Given the description of an element on the screen output the (x, y) to click on. 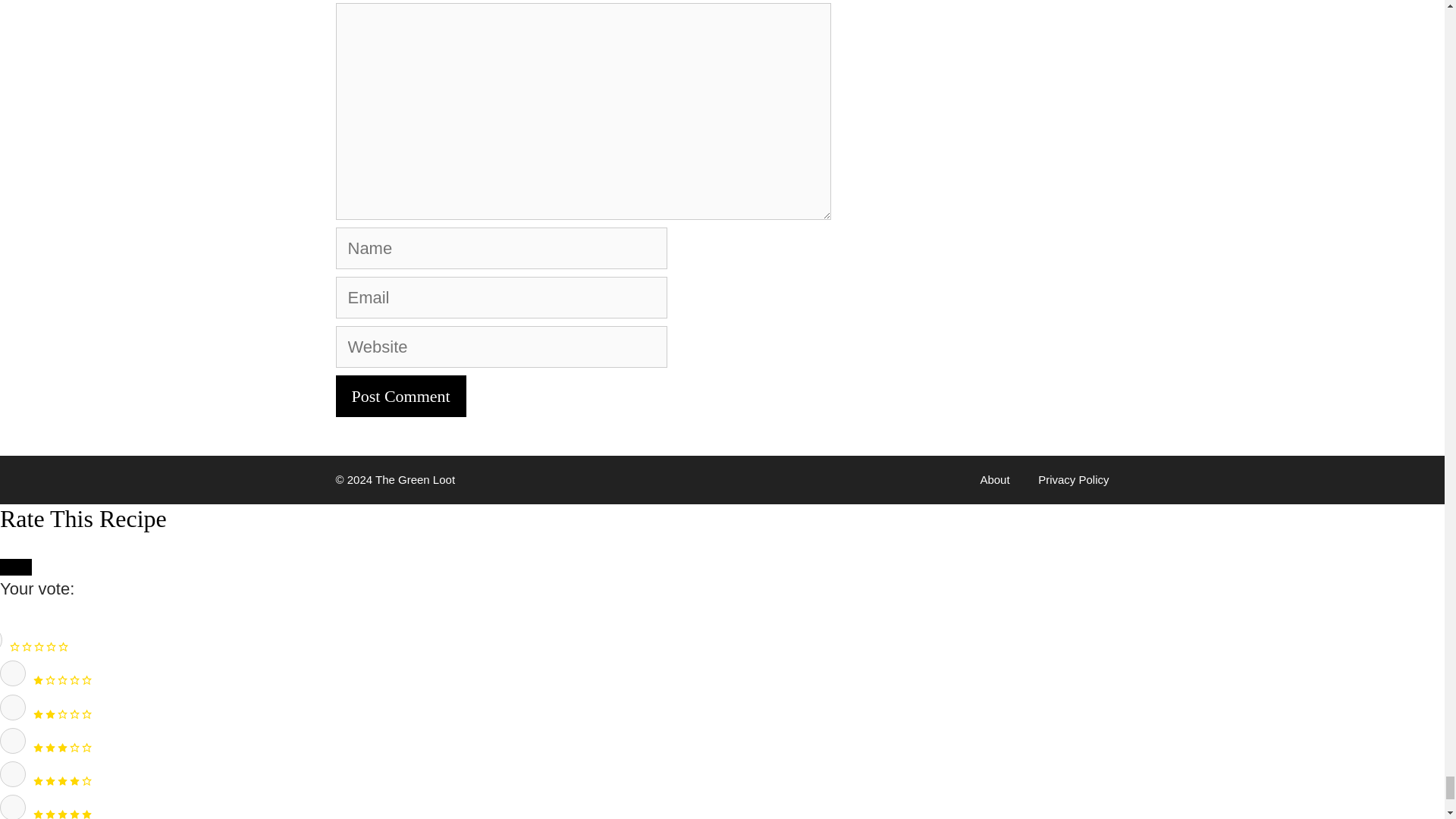
1 (13, 673)
5 (13, 806)
3 (13, 740)
2 (13, 707)
Post Comment (399, 395)
4 (13, 774)
